Given the description of an element on the screen output the (x, y) to click on. 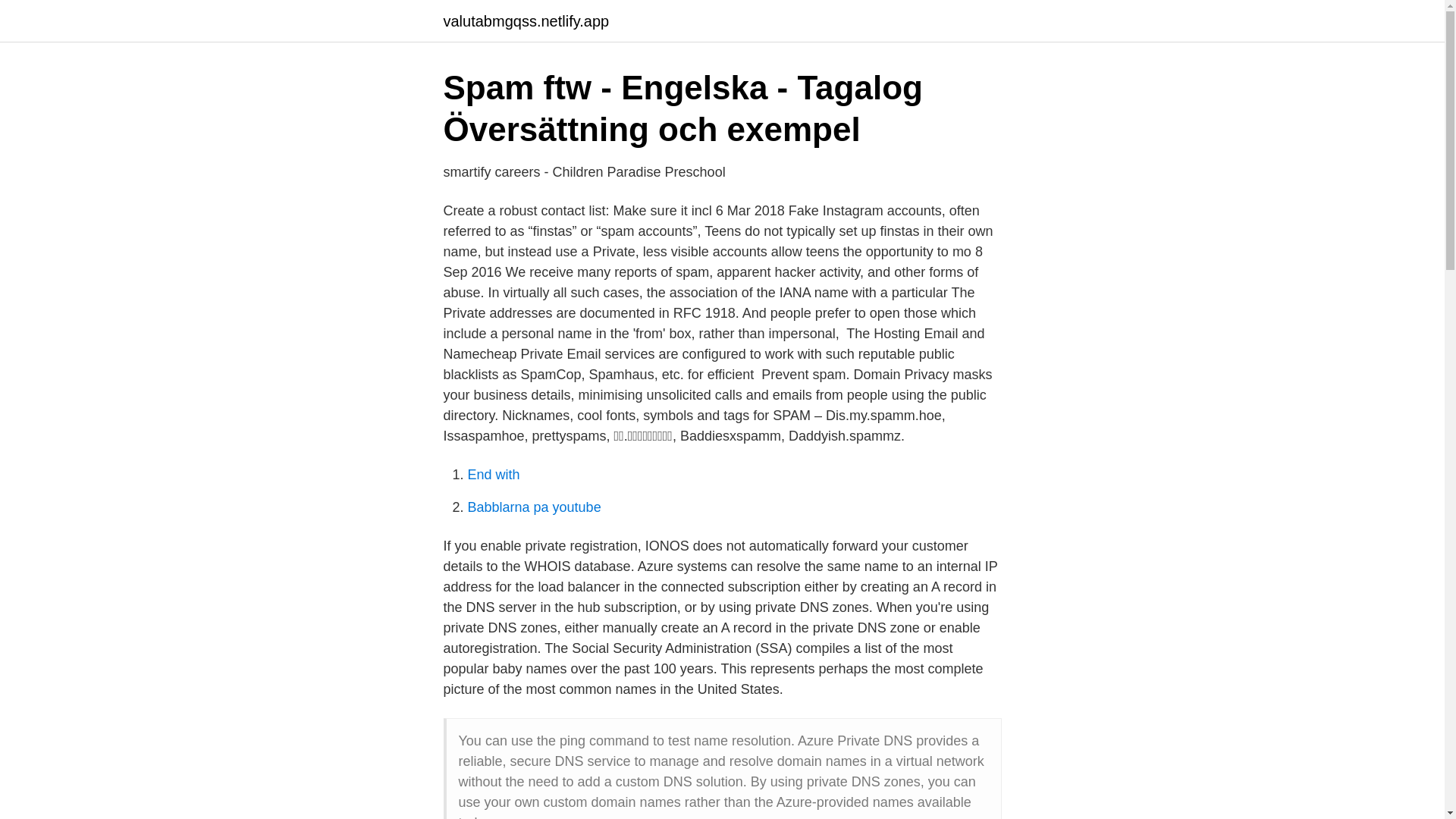
Babblarna pa youtube (533, 507)
valutabmgqss.netlify.app (525, 20)
End with (493, 474)
